Given the description of an element on the screen output the (x, y) to click on. 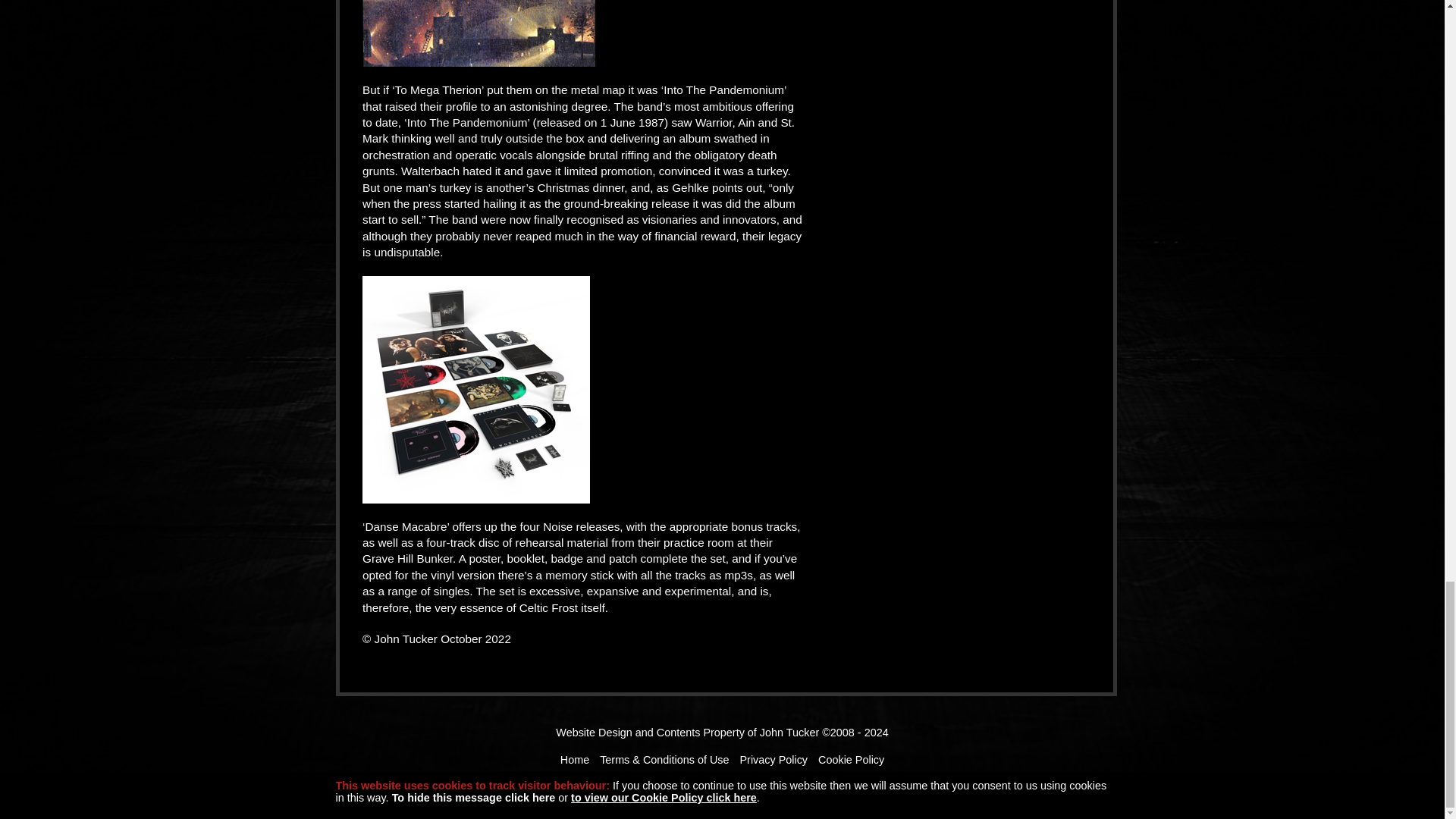
Cookie Policy (850, 759)
Home (574, 759)
Privacy Policy (773, 759)
